Given the description of an element on the screen output the (x, y) to click on. 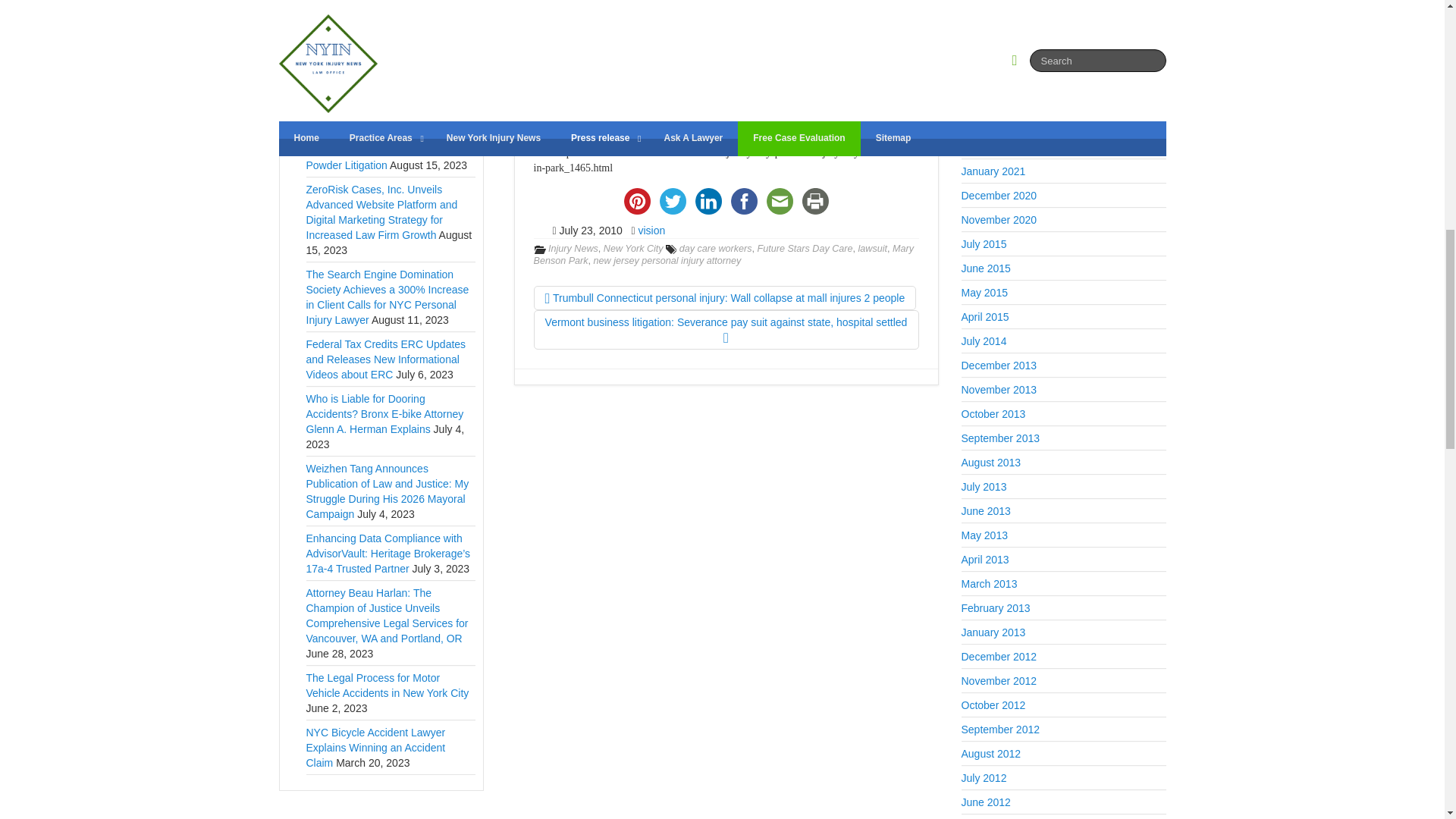
New York City (633, 248)
lawsuit (873, 248)
Future Stars Day Care (805, 248)
Email (778, 201)
vision (651, 230)
Print (814, 201)
Twitter (672, 201)
LinkedIn (707, 201)
Posts by vision (651, 230)
Mary Benson Park (724, 254)
Facebook (743, 201)
Injury News (573, 248)
day care workers (715, 248)
Pinterest (635, 201)
new jersey personal injury attorney (667, 260)
